Given the description of an element on the screen output the (x, y) to click on. 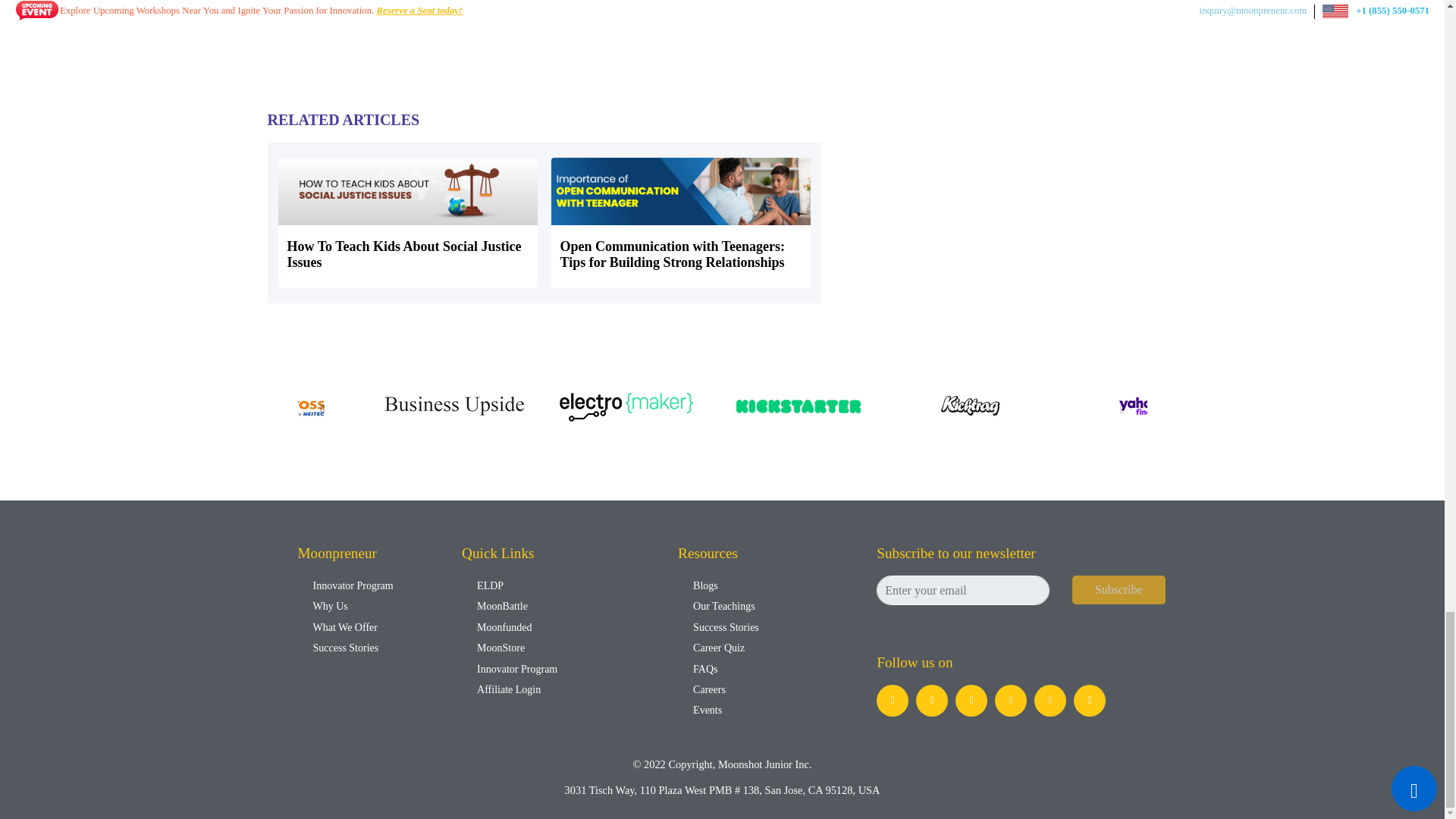
Subscribe (1118, 589)
